Given the description of an element on the screen output the (x, y) to click on. 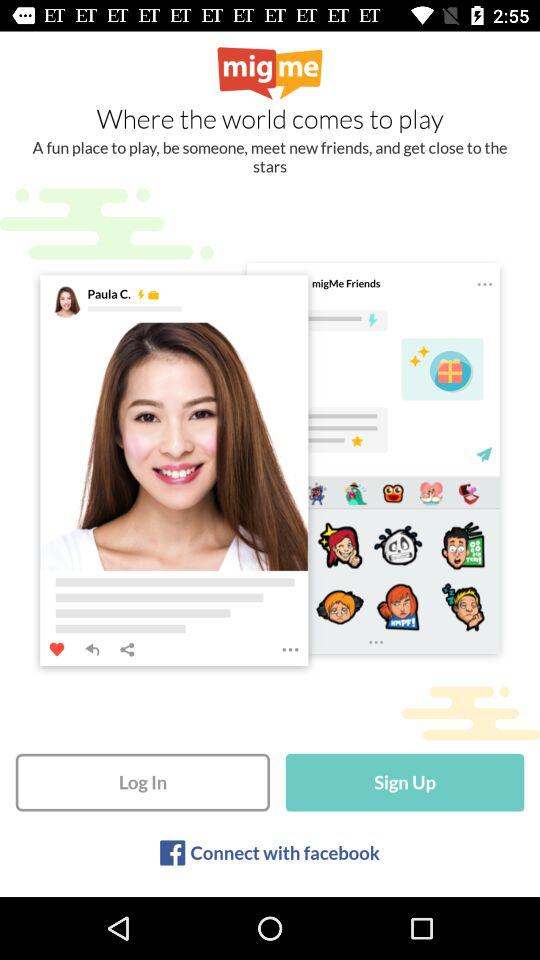
launch sign up (404, 782)
